Given the description of an element on the screen output the (x, y) to click on. 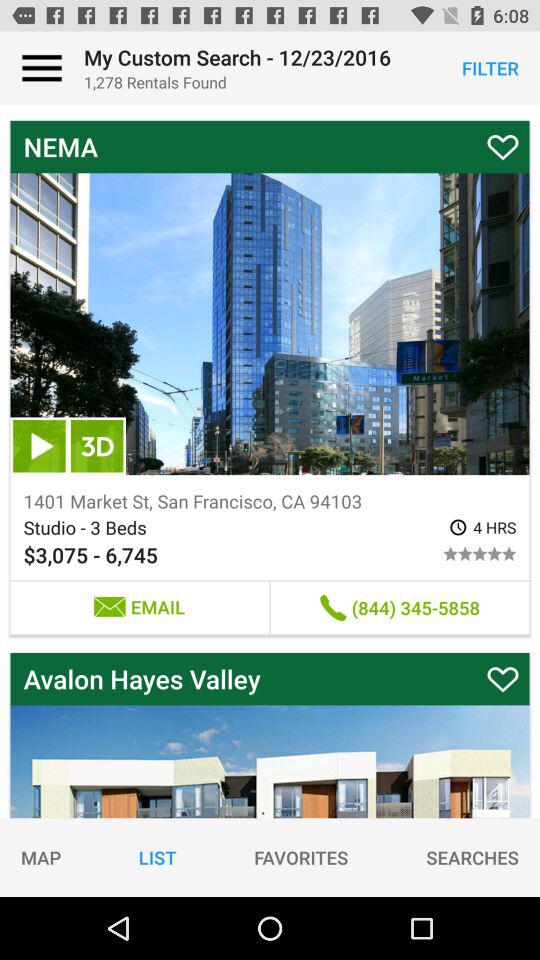
launch the item at the top left corner (41, 68)
